Given the description of an element on the screen output the (x, y) to click on. 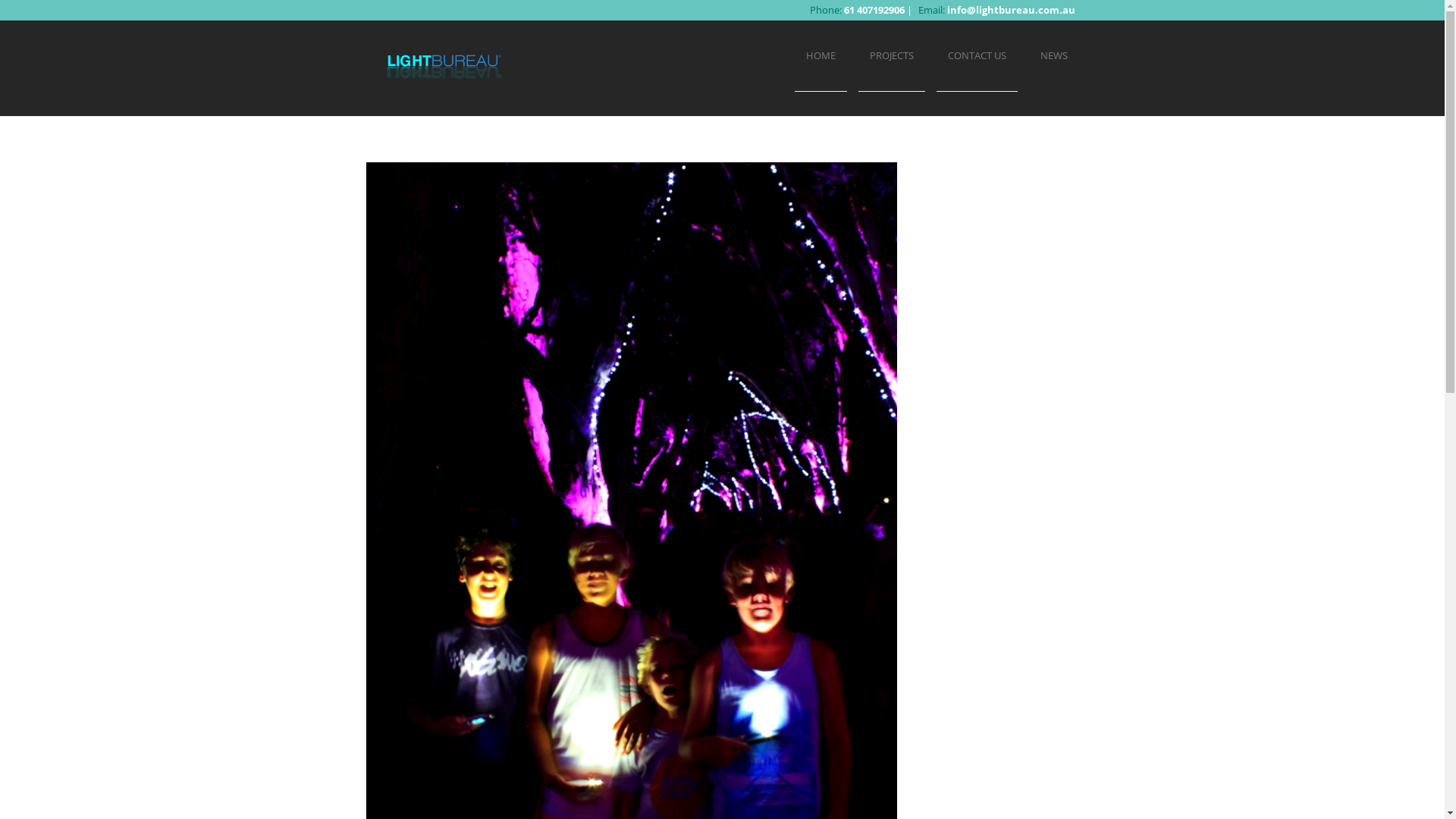
CONTACT US Element type: text (975, 55)
HOME Element type: text (820, 55)
NEWS Element type: text (1053, 55)
PROJECTS Element type: text (891, 55)
info@lightbureau.com.au Element type: text (1010, 9)
